Given the description of an element on the screen output the (x, y) to click on. 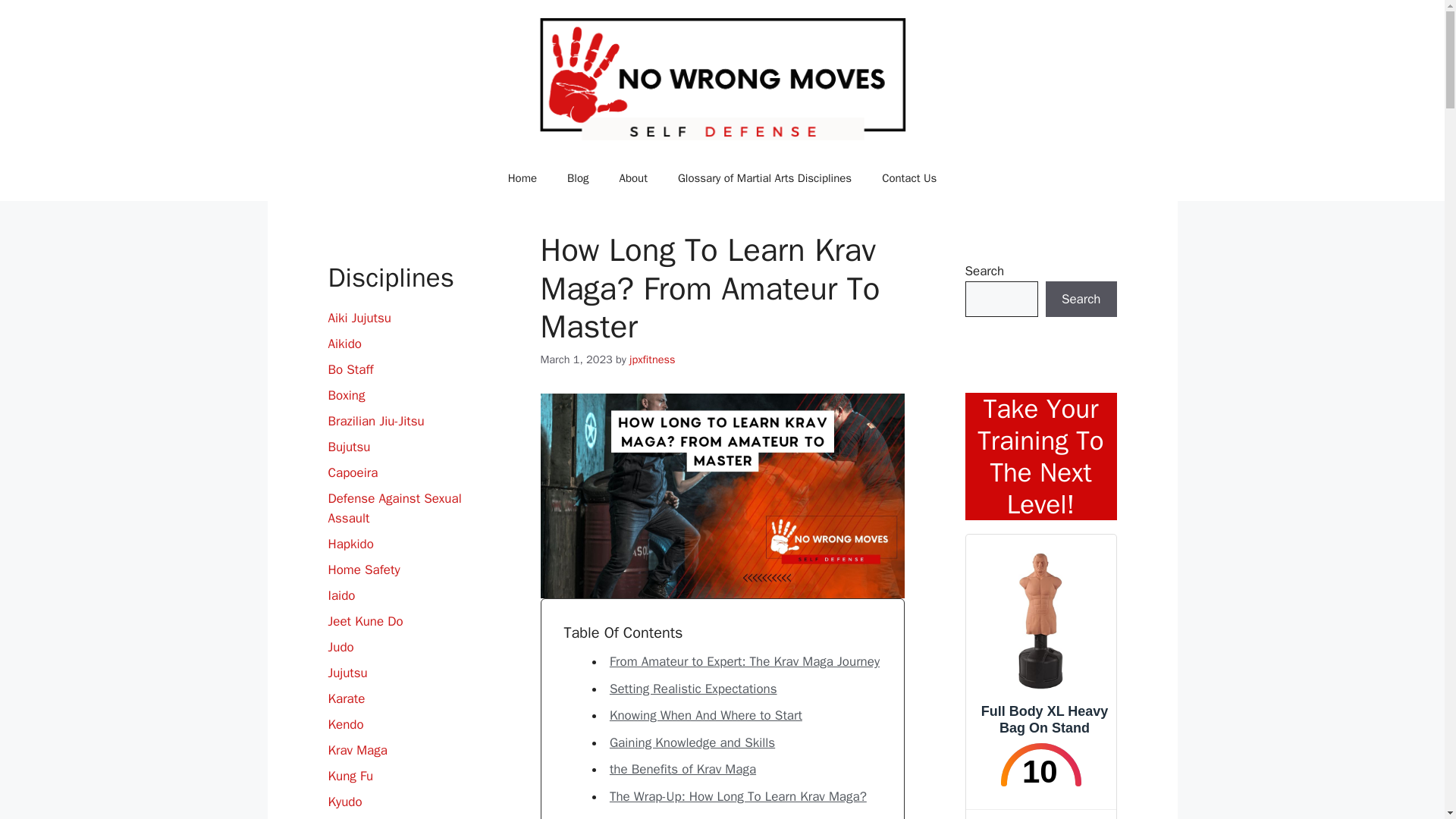
About (633, 177)
Hapkido (349, 544)
Home (522, 177)
The Wrap-Up: How Long To Learn Krav Maga? (738, 796)
the Benefits of Krav Maga (682, 769)
View all posts by jpxfitness (651, 359)
Iaido (341, 595)
Setting Realistic Expectations (693, 688)
Bujutsu (348, 446)
Aikido (344, 343)
Jujutsu (346, 672)
Capoeira (352, 472)
Home Safety (362, 569)
Glossary of Martial Arts Disciplines (764, 177)
Aiki Jujutsu (359, 317)
